Given the description of an element on the screen output the (x, y) to click on. 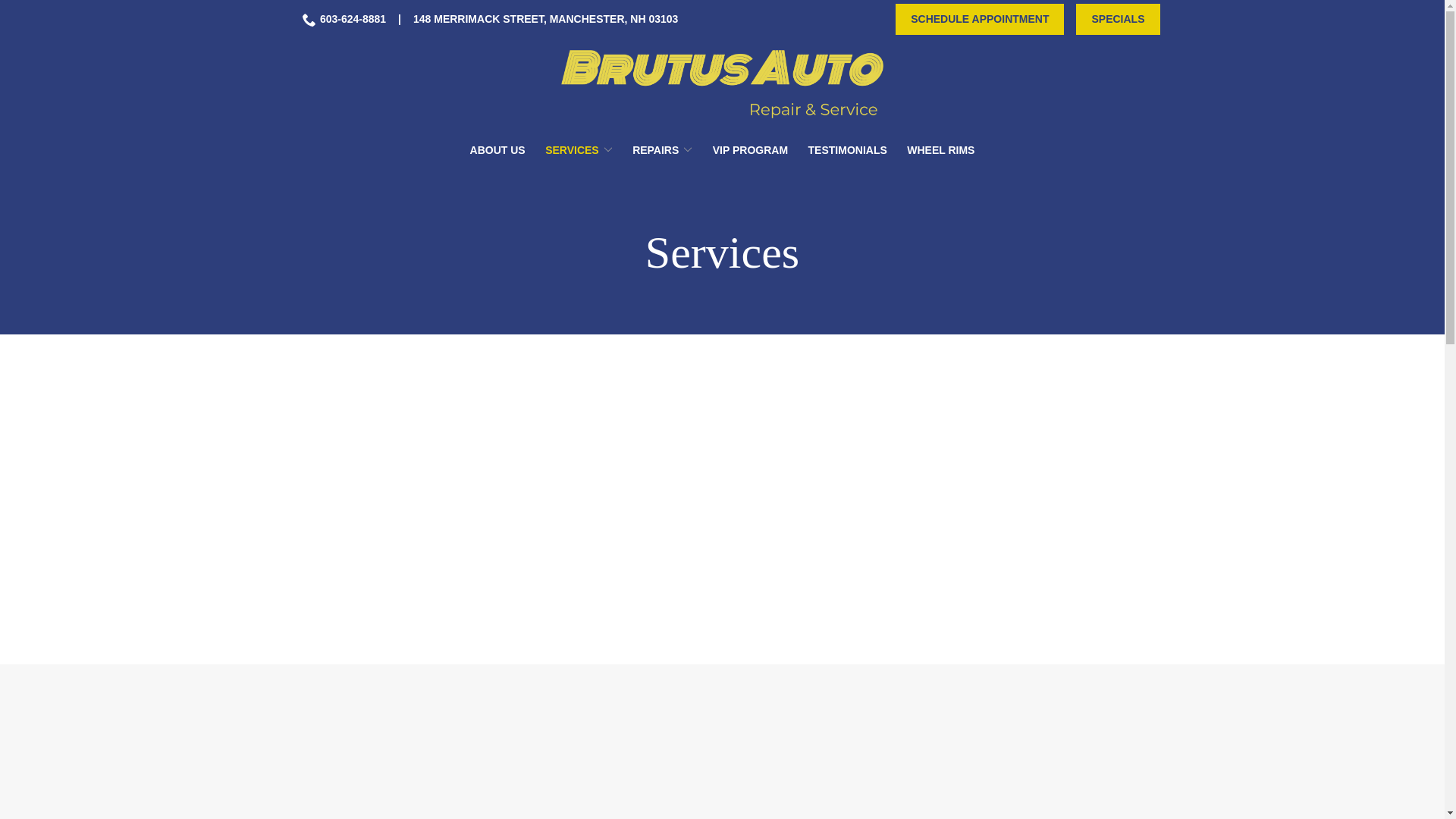
SERVICES (578, 150)
ABOUT US (497, 150)
VIP PROGRAM (750, 150)
REPAIRS (662, 150)
148 MERRIMACK STREET, MANCHESTER, NH 03103 (545, 19)
SPECIALS (1116, 19)
603-624-8881 (343, 19)
SCHEDULE APPOINTMENT (979, 19)
